Given the description of an element on the screen output the (x, y) to click on. 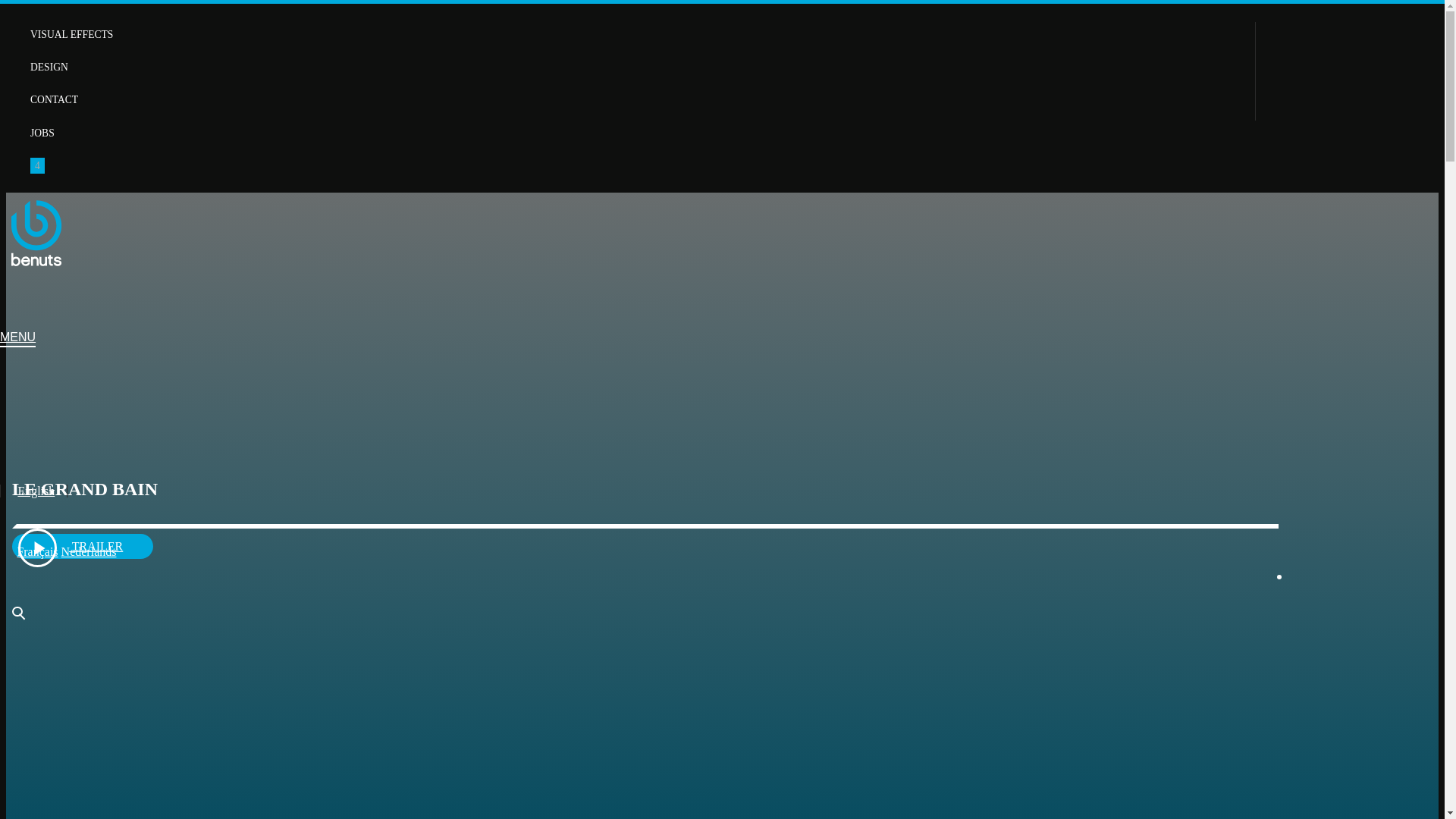
JOBS Element type: text (42, 132)
VISUAL EFFECTS Element type: text (71, 34)
DESIGN Element type: text (49, 66)
Linkedin Element type: hover (4, 413)
MENU Element type: text (17, 338)
TRAILER Element type: text (82, 545)
Nederlands Element type: text (88, 551)
CONTACT Element type: text (54, 99)
Facebook Element type: hover (24, 413)
Instagram Element type: hover (14, 413)
IMDB Element type: hover (34, 413)
English Element type: text (33, 490)
Vimeo Element type: hover (44, 413)
